Given the description of an element on the screen output the (x, y) to click on. 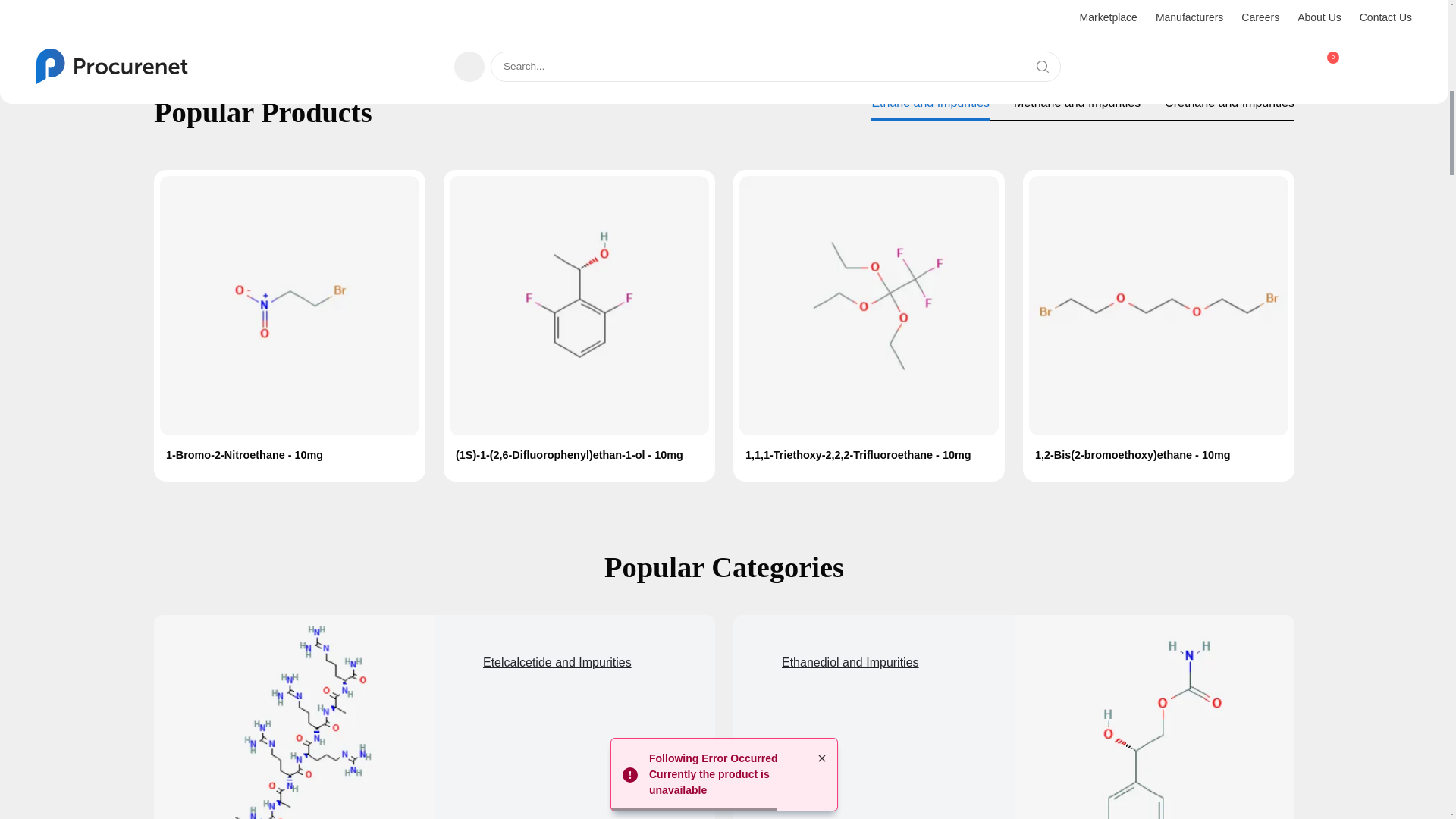
Urethane and Impurities (1229, 102)
Ethane and Impurities (930, 102)
1-Bromo-2-Nitroethane - 10mg (289, 455)
1,1,1-Triethoxy-2,2,2-Trifluoroethane - 10mg (868, 455)
1-Bromo-2-Nitroethane - 10mg (289, 455)
Methane and Impurities (1076, 102)
Ethane and Impurities (579, 305)
Ethane and Impurities (289, 305)
